Given the description of an element on the screen output the (x, y) to click on. 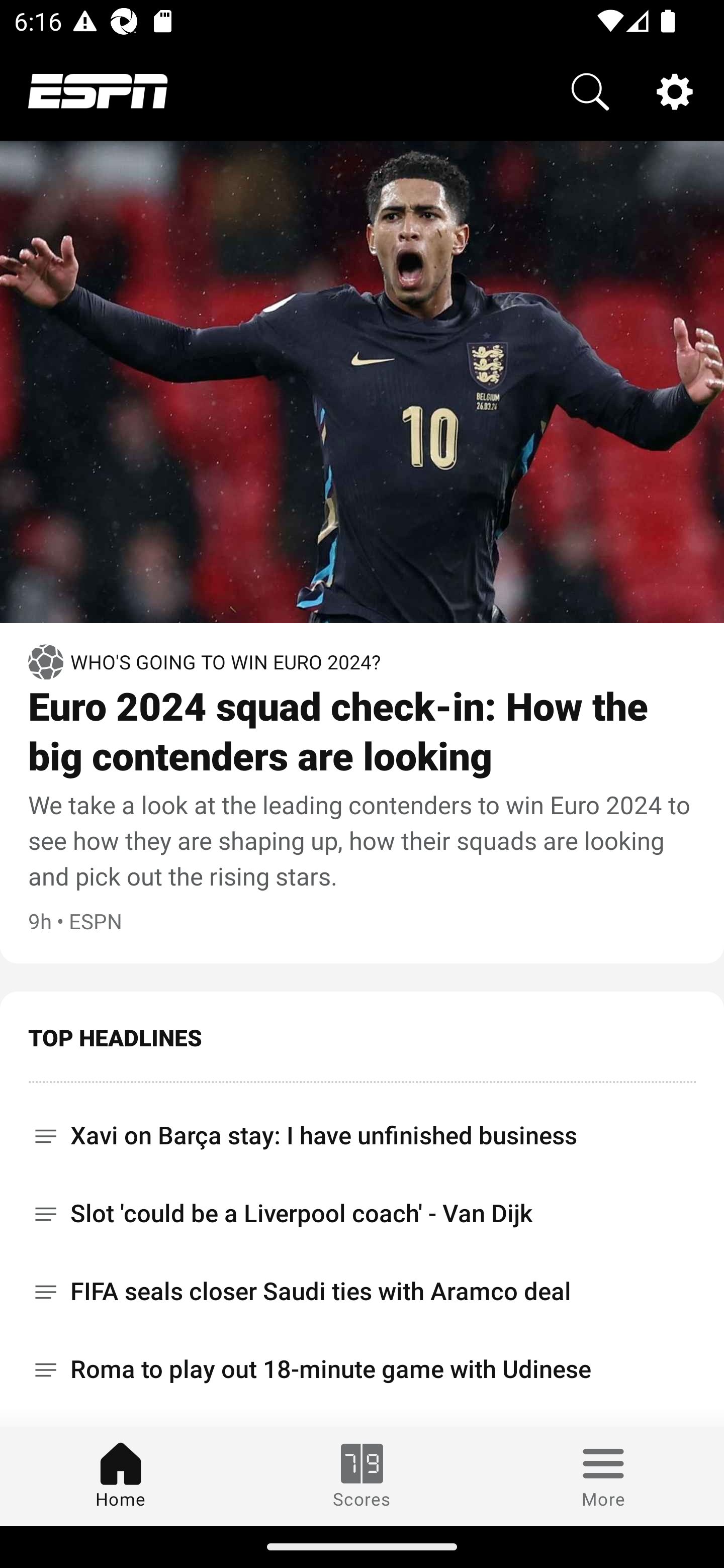
Search (590, 90)
Settings (674, 90)
 Xavi on Barça stay: I have unfinished business (362, 1128)
 Slot 'could be a Liverpool coach' - Van Dijk (362, 1213)
 FIFA seals closer Saudi ties with Aramco deal (362, 1291)
 Roma to play out 18-minute game with Udinese (362, 1369)
Scores (361, 1475)
More (603, 1475)
